Given the description of an element on the screen output the (x, y) to click on. 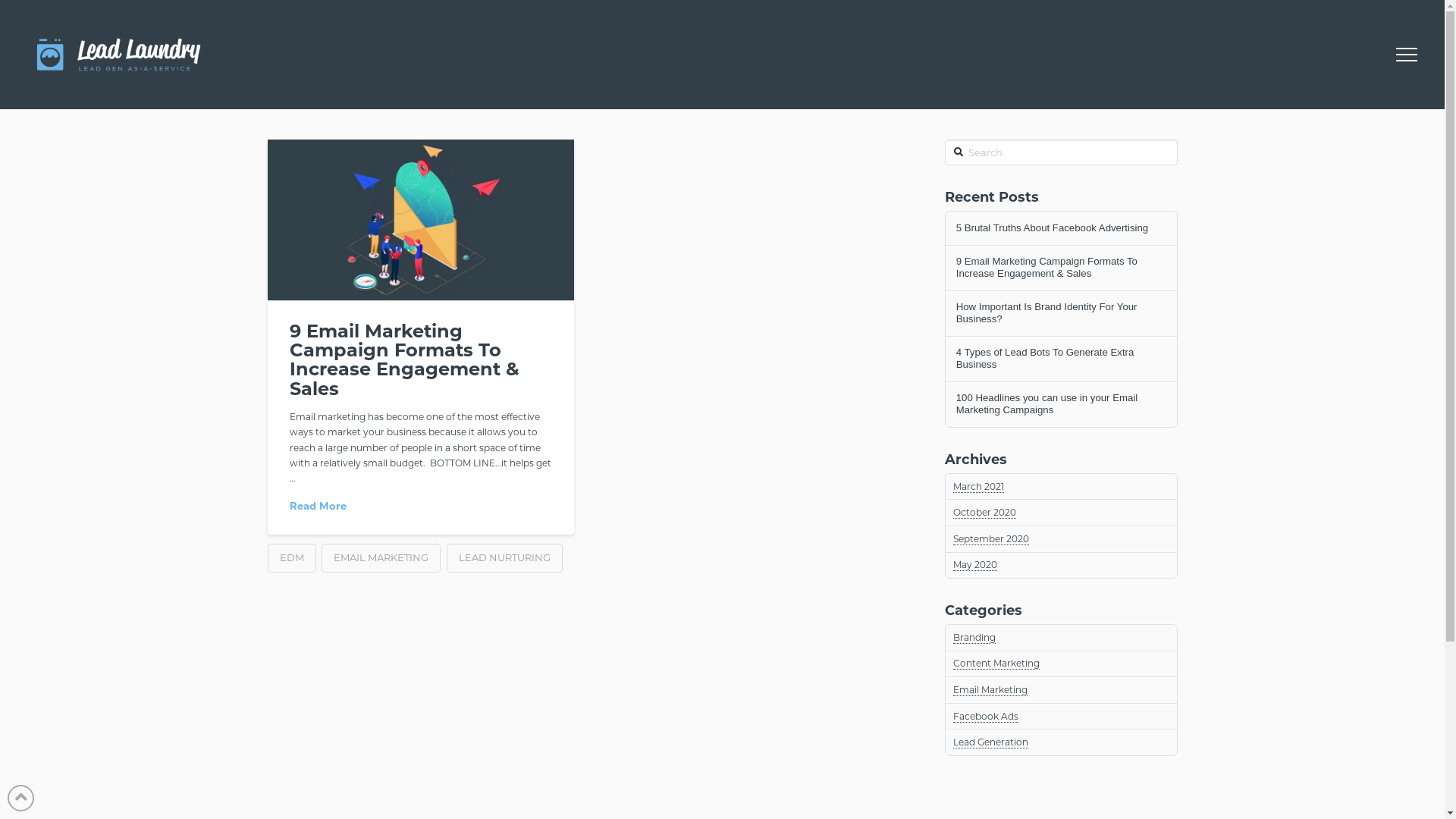
100 Headlines you can use in your Email Marketing Campaigns Element type: text (1061, 404)
Facebook Ads Element type: text (985, 716)
Branding Element type: text (974, 637)
EMAIL MARKETING Element type: text (380, 557)
Lead Generation Element type: text (990, 742)
May 2020 Element type: text (975, 564)
5 Brutal Truths About Facebook Advertising Element type: text (1061, 228)
September 2020 Element type: text (991, 539)
How Important Is Brand Identity For Your Business? Element type: text (1061, 313)
Email Marketing Element type: text (990, 690)
LEAD NURTURING Element type: text (504, 557)
October 2020 Element type: text (984, 512)
Back to Top Element type: hover (20, 797)
March 2021 Element type: text (978, 486)
Read More Element type: text (317, 505)
EDM Element type: text (290, 557)
4 Types of Lead Bots To Generate Extra Business Element type: text (1061, 358)
Content Marketing Element type: text (996, 663)
